Given the description of an element on the screen output the (x, y) to click on. 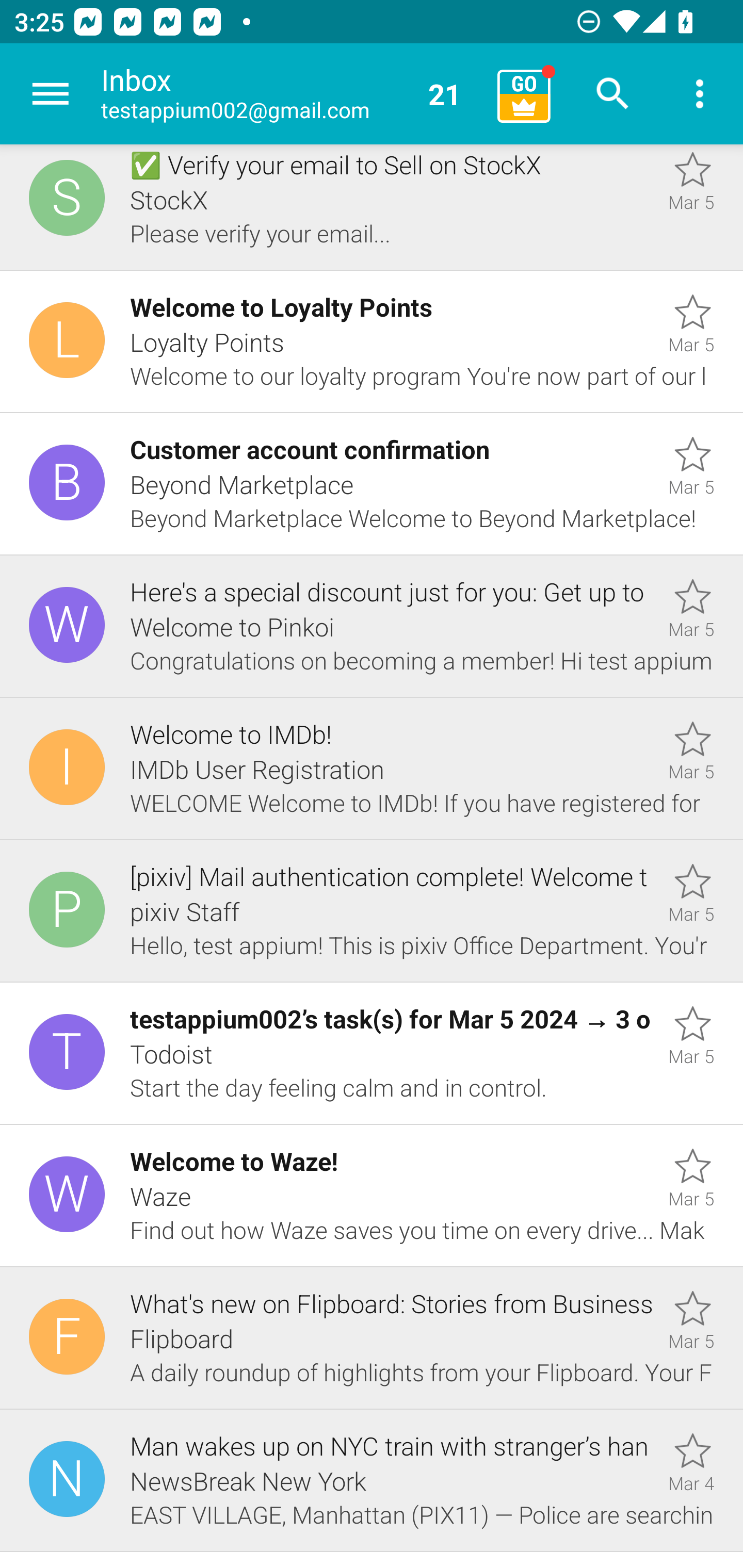
Navigate up (50, 93)
Inbox testappium002@gmail.com 21 (291, 93)
Search (612, 93)
More options (699, 93)
